Given the description of an element on the screen output the (x, y) to click on. 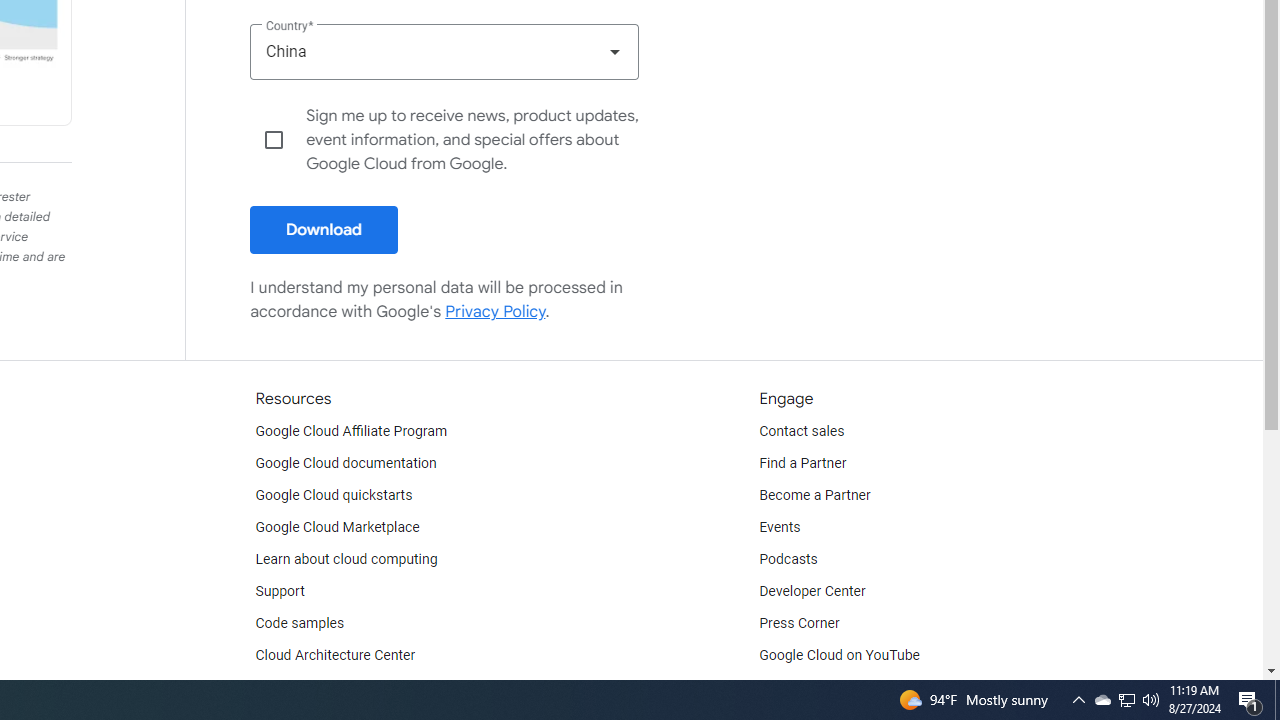
Developer Center (812, 591)
Cloud Architecture Center (335, 655)
Google Cloud Tech on YouTube (856, 687)
Find a Partner (803, 463)
Support (279, 591)
Country China (444, 51)
Learn about cloud computing (345, 560)
Google Cloud Affiliate Program (351, 431)
Training (279, 687)
